Given the description of an element on the screen output the (x, y) to click on. 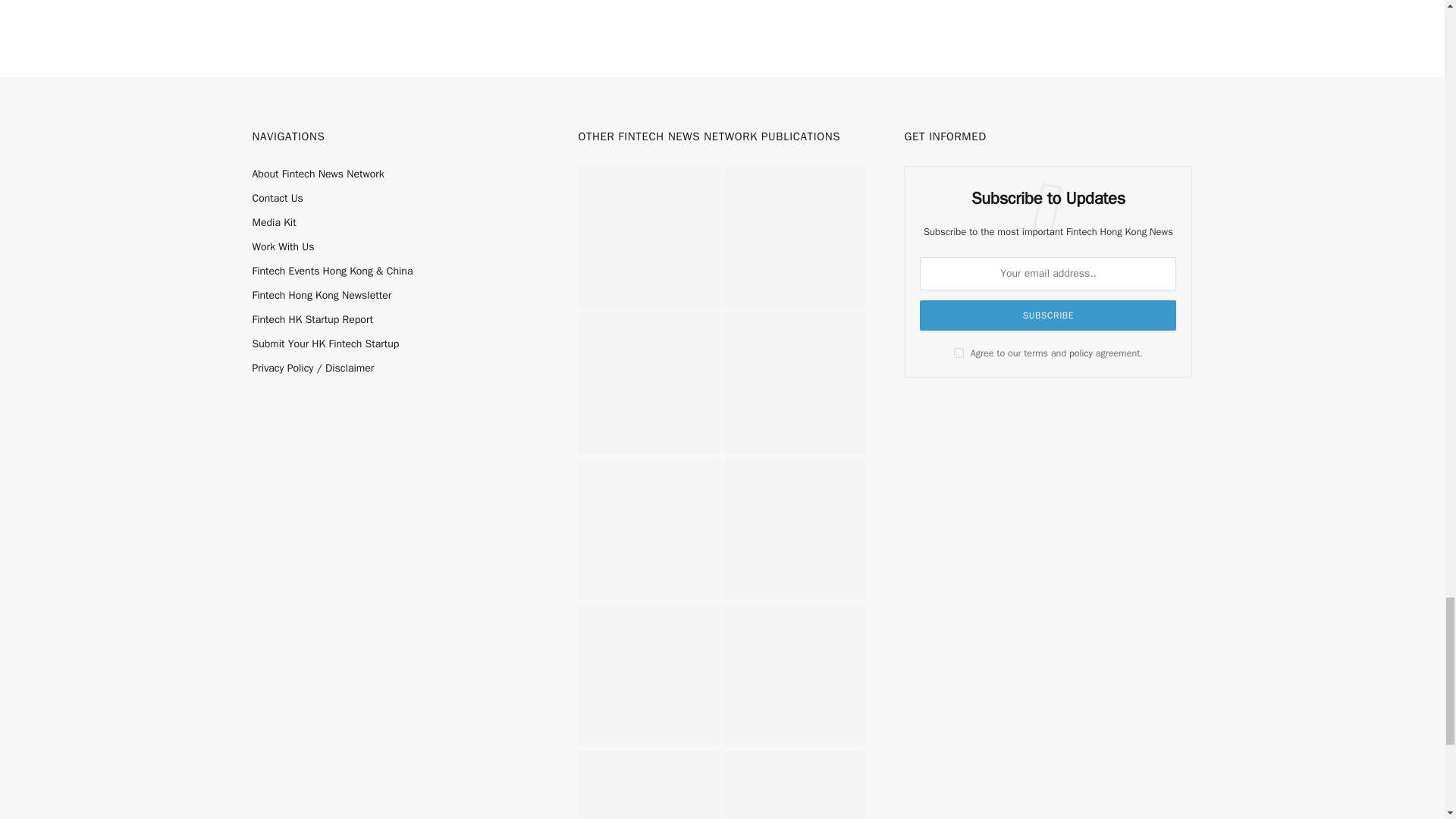
Subscribe (1048, 315)
on (958, 352)
